Given the description of an element on the screen output the (x, y) to click on. 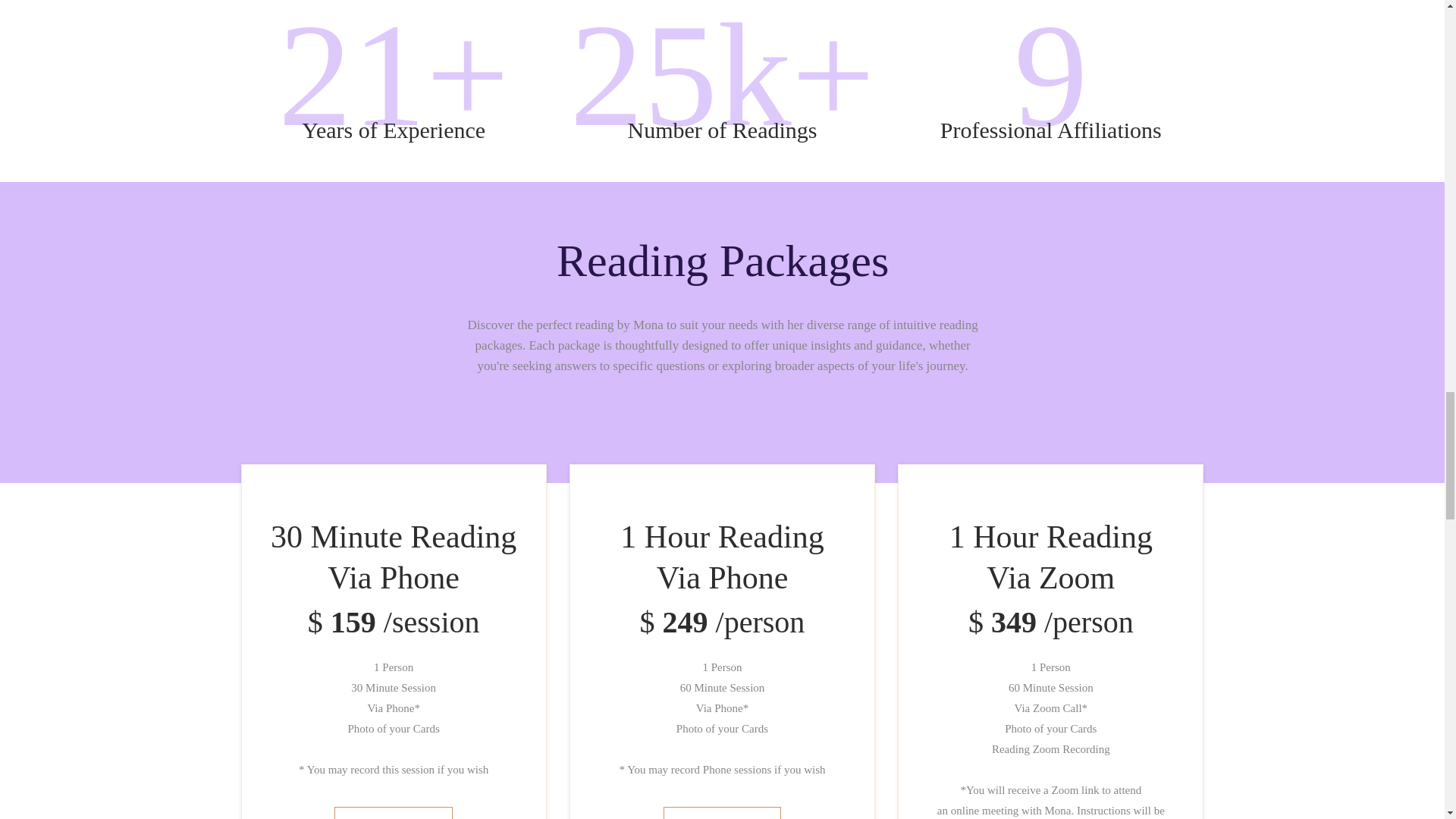
BUY NOW (722, 812)
BUY NOW (393, 812)
